Given the description of an element on the screen output the (x, y) to click on. 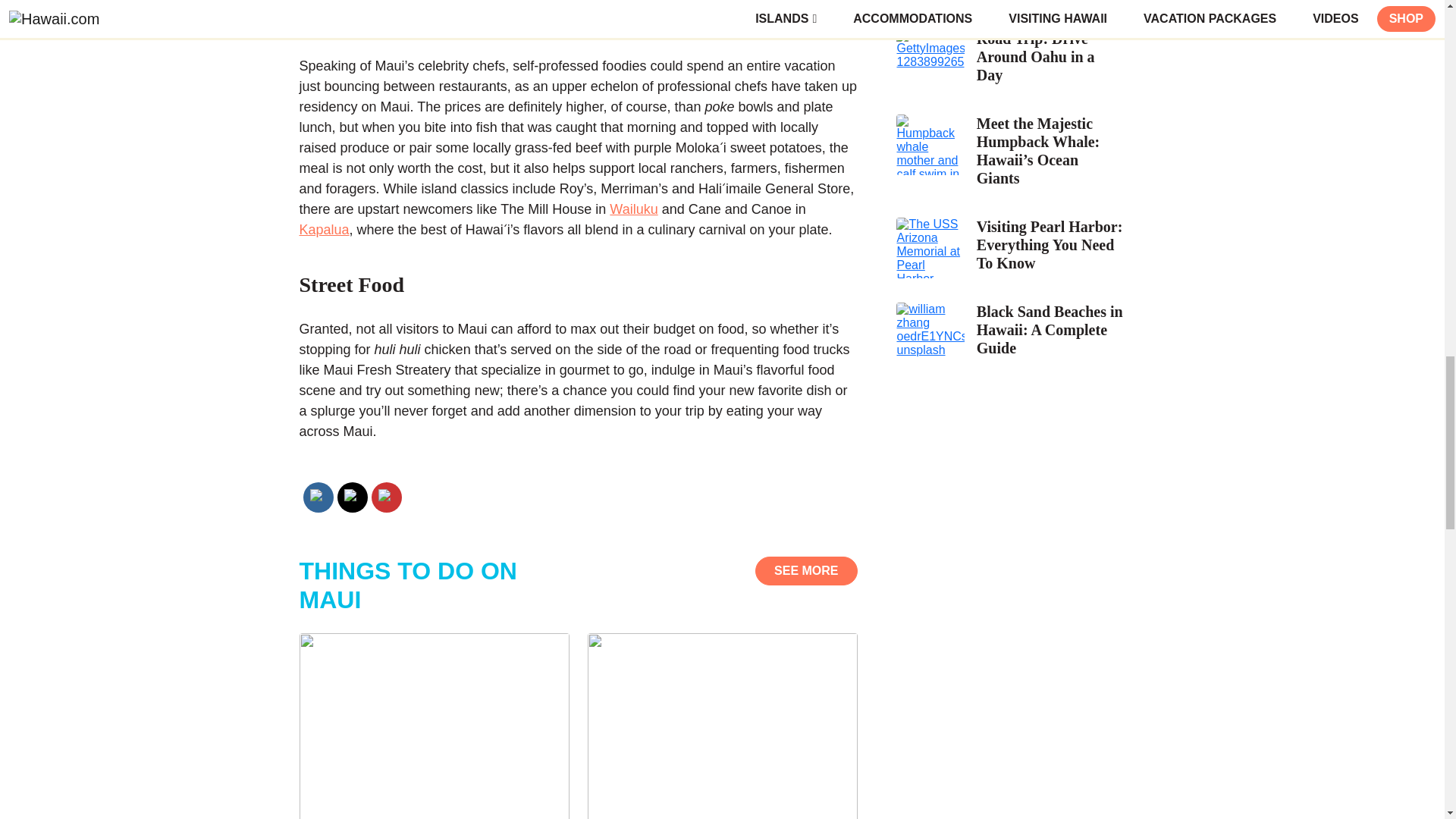
Kapalua (323, 229)
SEE MORE (806, 570)
Wailuku (634, 209)
